Given the description of an element on the screen output the (x, y) to click on. 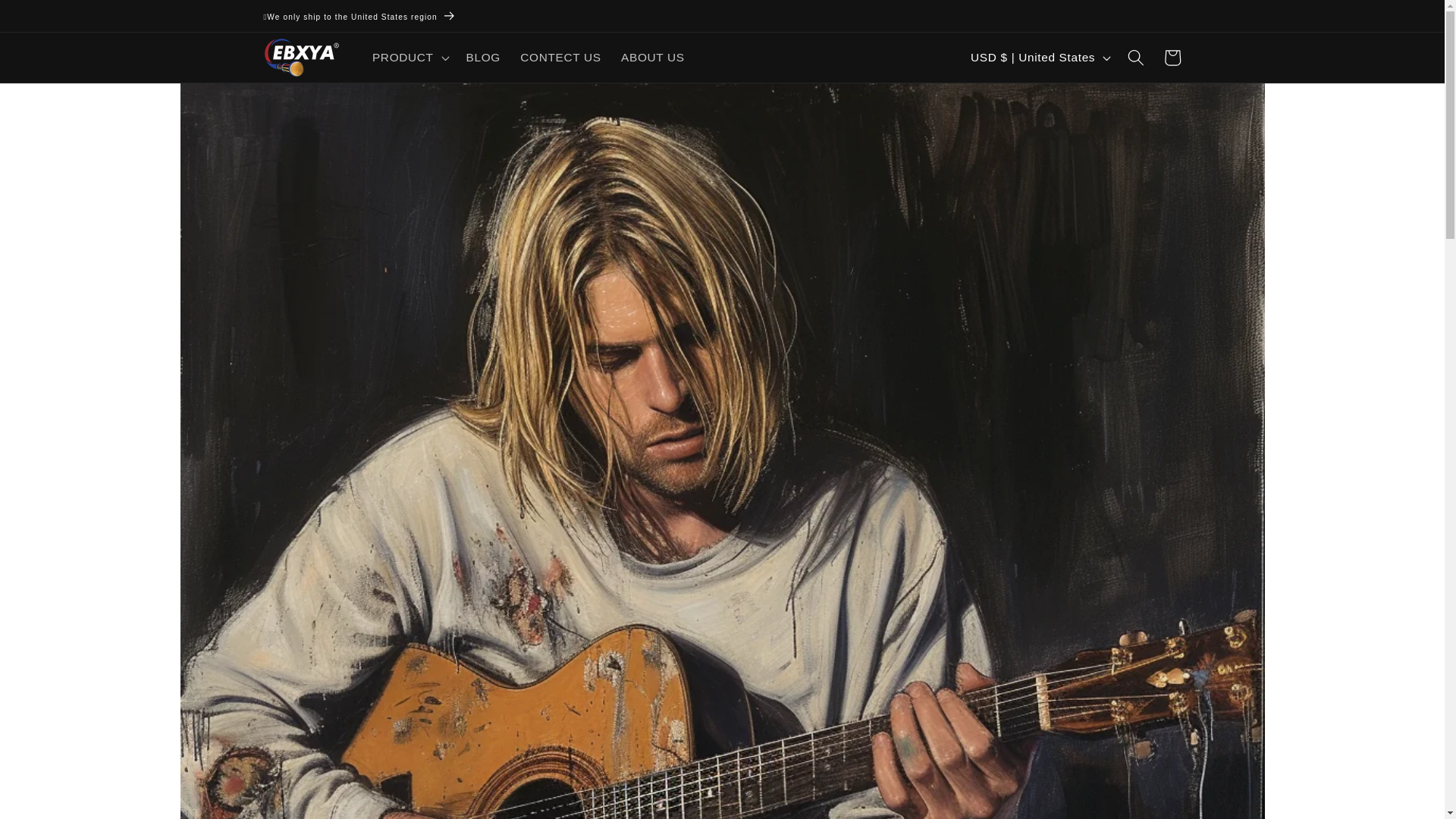
Skip to content (50, 20)
BLOG (483, 57)
Cart (1172, 57)
CONTECT US (561, 57)
ABOUT US (652, 57)
